Given the description of an element on the screen output the (x, y) to click on. 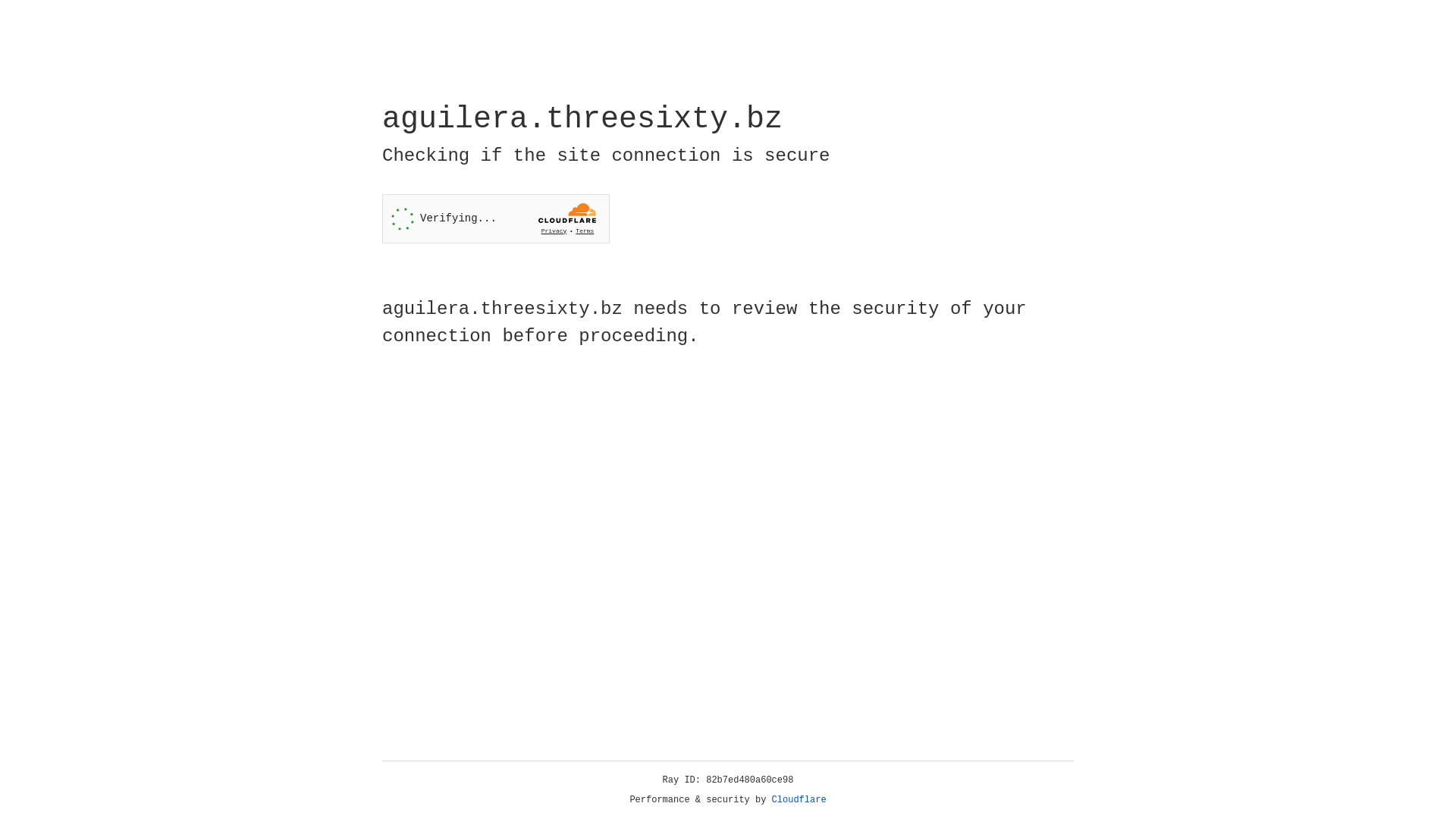
Cloudflare Element type: text (798, 799)
Widget containing a Cloudflare security challenge Element type: hover (495, 218)
